Given the description of an element on the screen output the (x, y) to click on. 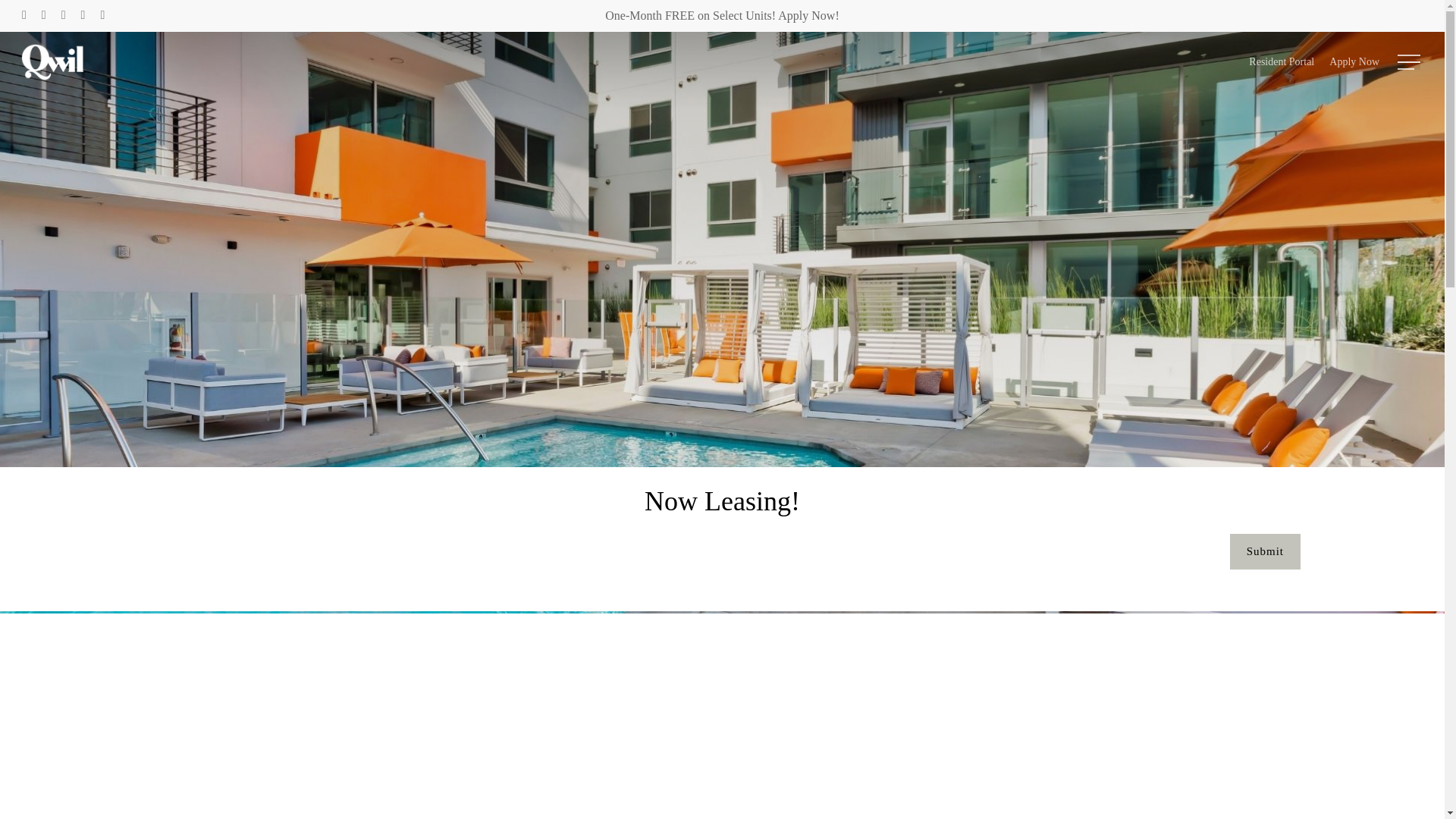
Apply Now (1353, 61)
Residents Portal (1011, 612)
Terms Of Use (1006, 703)
Submit (1265, 551)
Affordable Housing (1020, 630)
Notice Of Collection (1023, 666)
One-Month FREE on Select Units! Apply Now! (721, 15)
Privacy Policy (1007, 684)
Menu (1410, 62)
525 N. Wilton Place (539, 612)
